Given the description of an element on the screen output the (x, y) to click on. 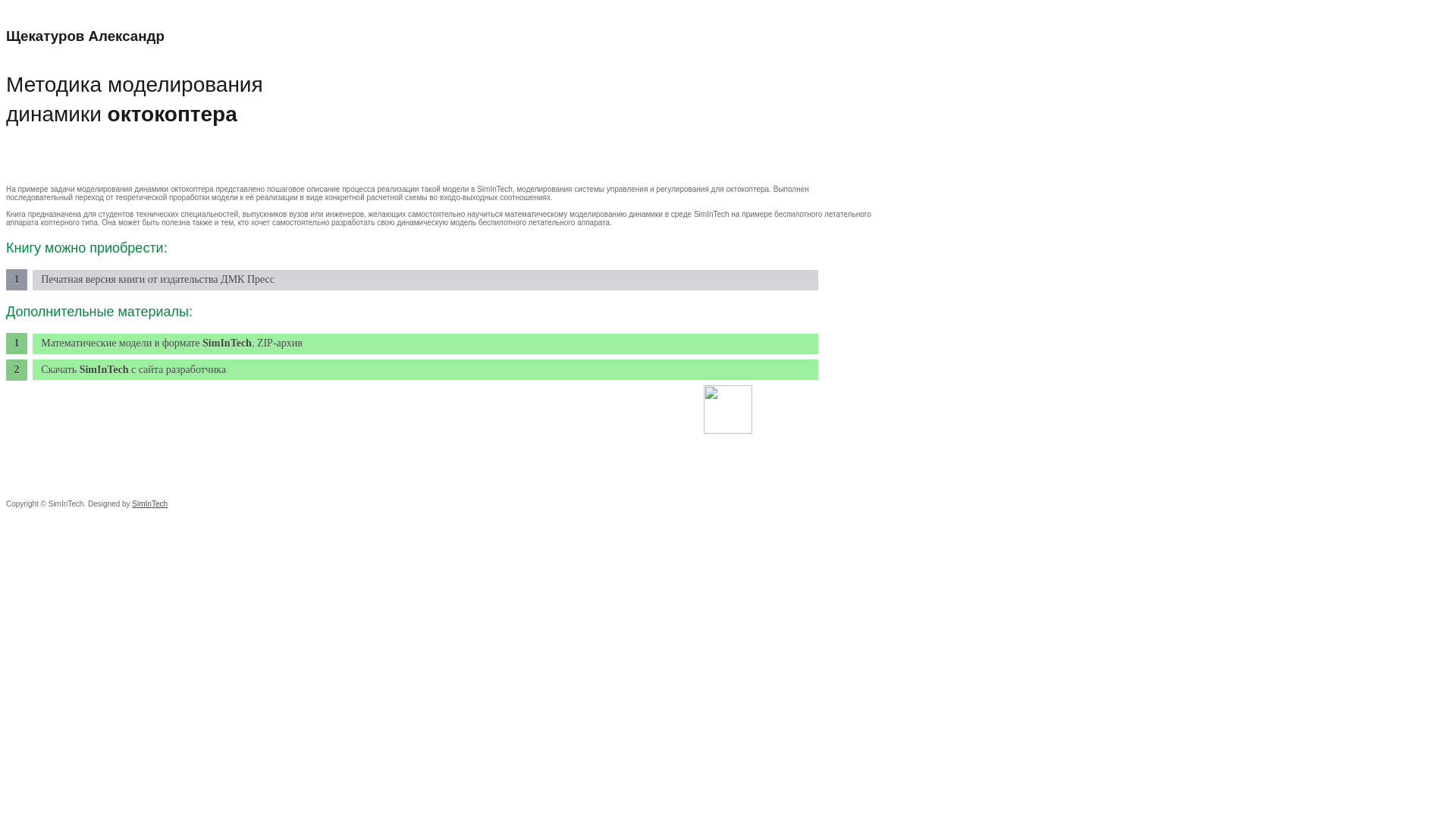
SimInTech Element type: text (149, 503)
